Given the description of an element on the screen output the (x, y) to click on. 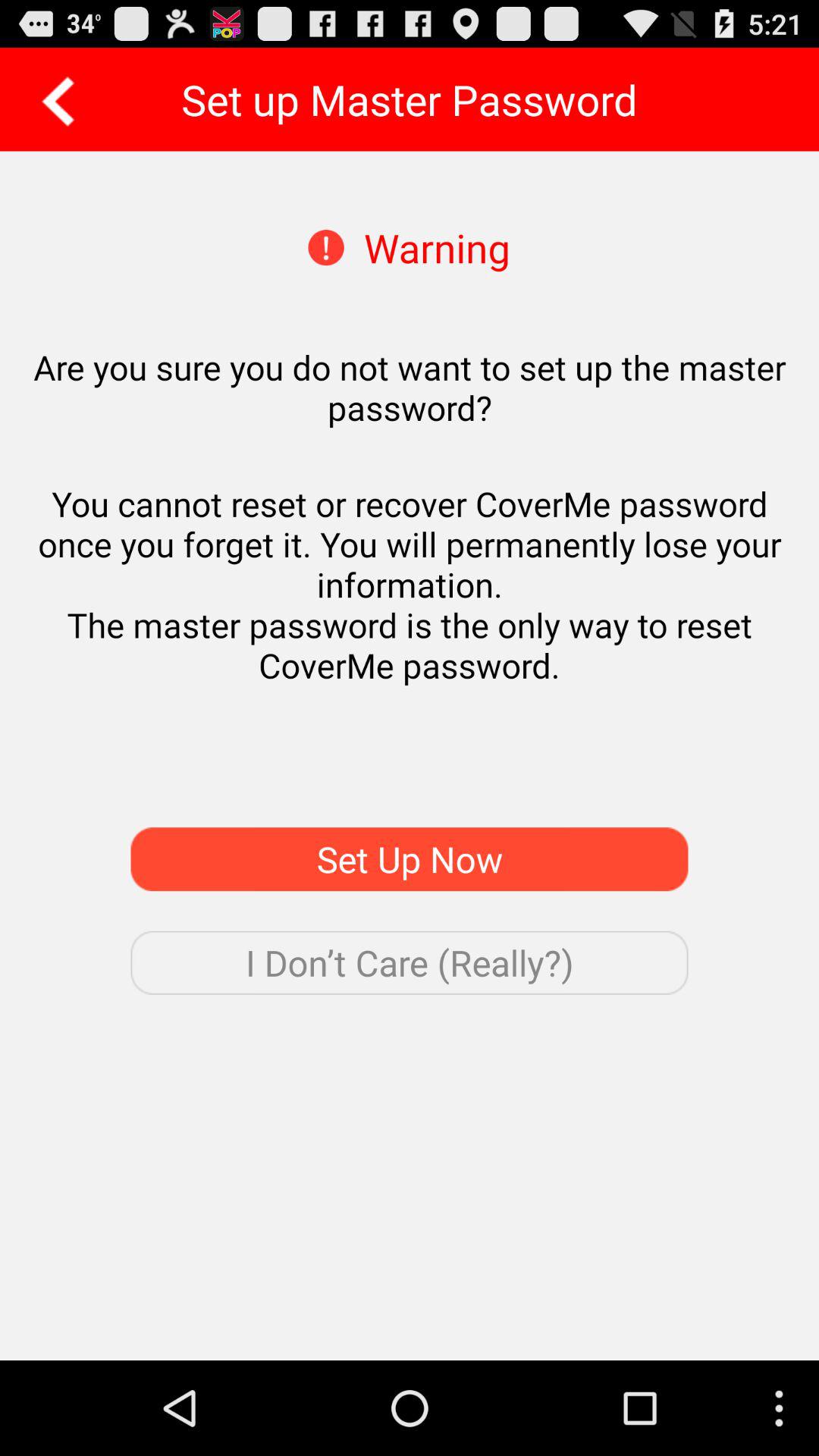
go to previous page (53, 99)
